Given the description of an element on the screen output the (x, y) to click on. 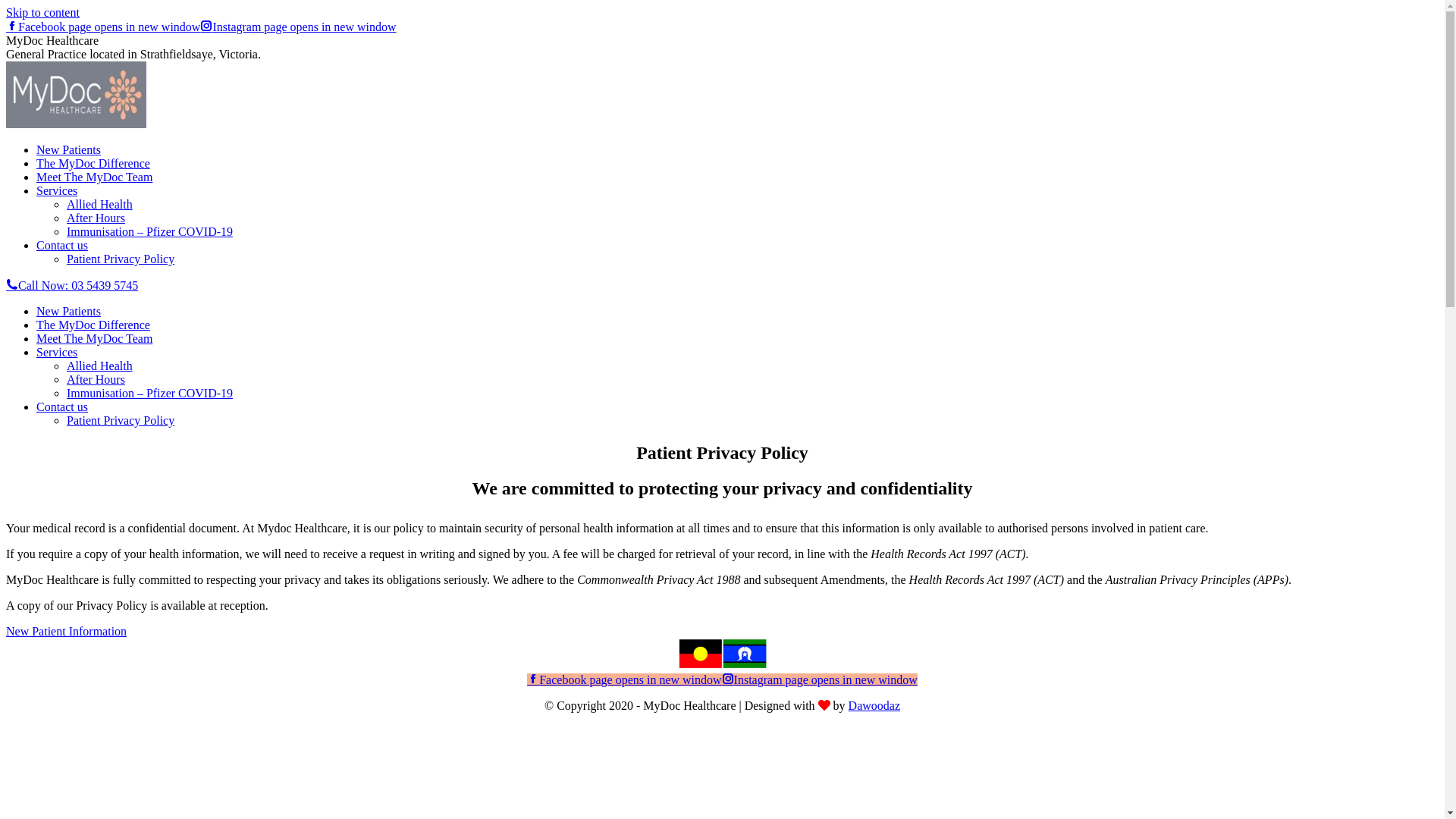
Services Element type: text (56, 190)
Contact us Element type: text (61, 406)
Contact us Element type: text (61, 244)
Call Now: 03 5439 5745 Element type: text (72, 285)
Instagram page opens in new window Element type: text (819, 679)
Patient Privacy Policy Element type: text (120, 258)
Patient Privacy Policy Element type: text (120, 420)
Meet The MyDoc Team Element type: text (94, 176)
Allied Health Element type: text (99, 203)
New Patients Element type: text (68, 149)
Facebook page opens in new window Element type: text (624, 679)
Allied Health Element type: text (99, 365)
The MyDoc Difference Element type: text (93, 162)
Facebook page opens in new window Element type: text (103, 26)
Dawoodaz Element type: text (874, 705)
New Patient Information Element type: text (66, 630)
Skip to content Element type: text (42, 12)
The MyDoc Difference Element type: text (93, 324)
New Patients Element type: text (68, 310)
Meet The MyDoc Team Element type: text (94, 338)
After Hours Element type: text (95, 379)
Services Element type: text (56, 351)
Instagram page opens in new window Element type: text (297, 26)
After Hours Element type: text (95, 217)
